Given the description of an element on the screen output the (x, y) to click on. 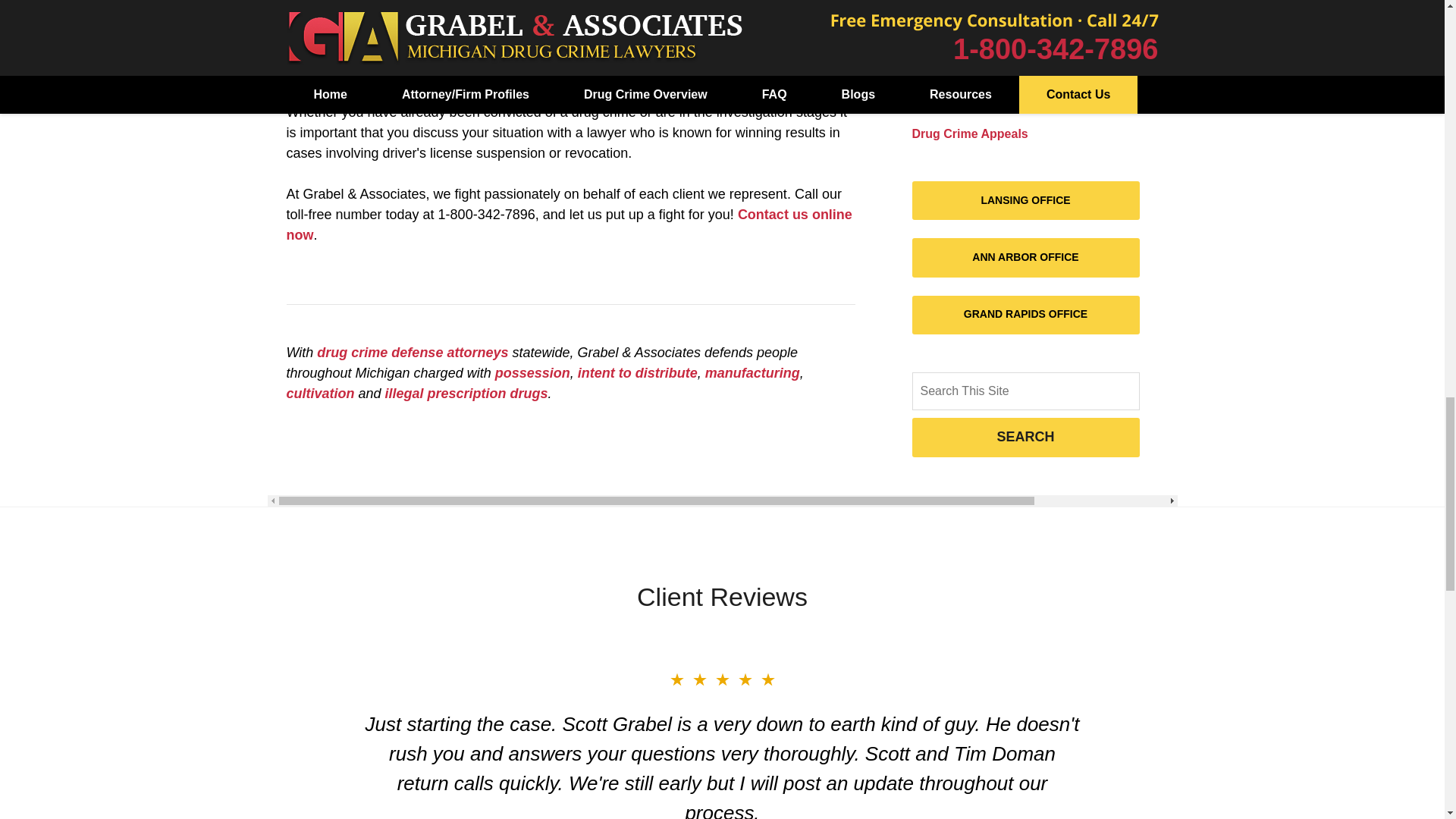
Contact us online now (568, 224)
cultivation (320, 393)
Search (1024, 391)
illegal prescription drugs (466, 393)
intent to distribute (637, 372)
possession (532, 372)
Heroin (930, 11)
drug crime defense attorneys (412, 352)
manufacturing (751, 372)
